Given the description of an element on the screen output the (x, y) to click on. 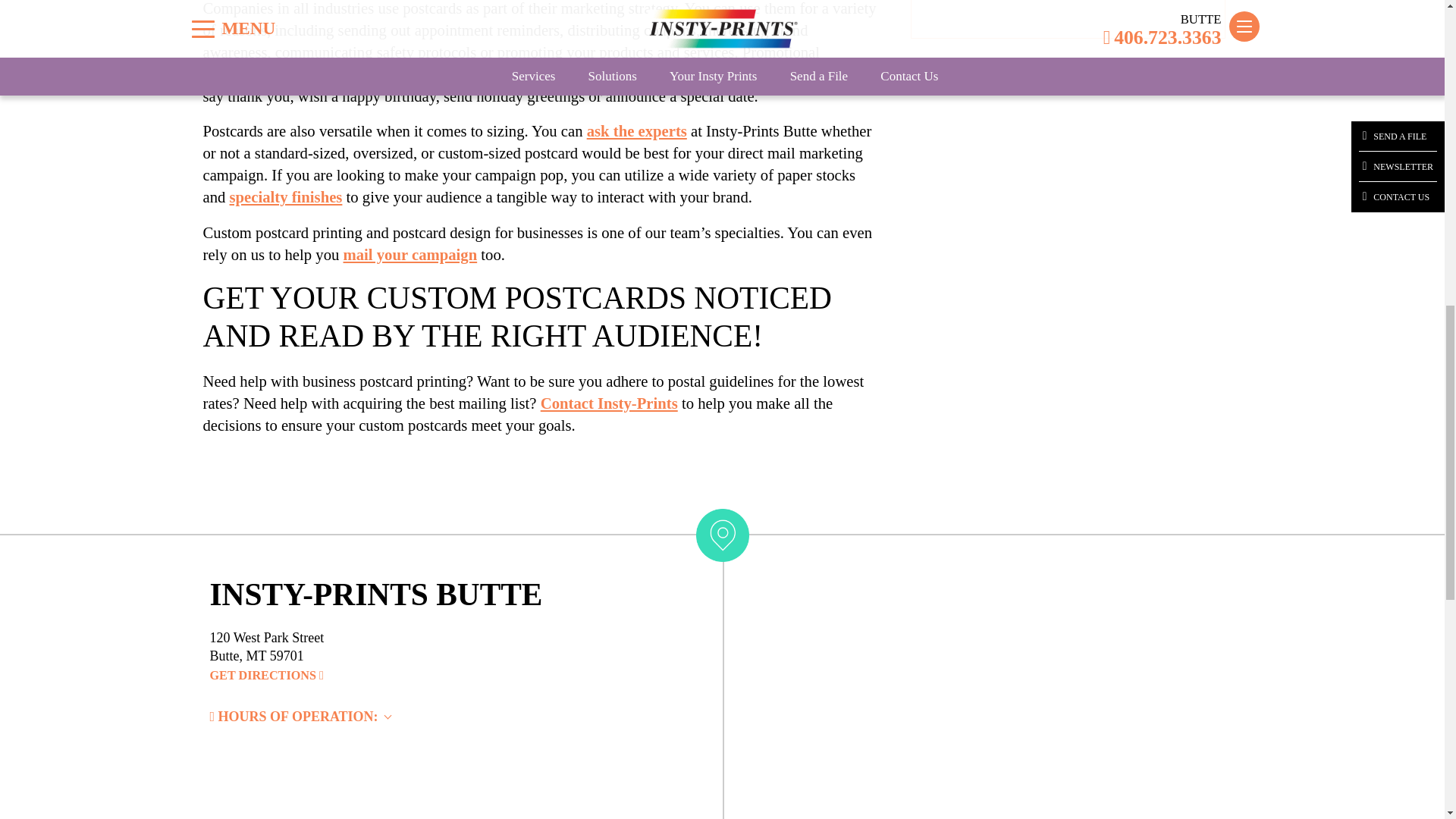
Visit Google Map (266, 676)
ask the experts (636, 108)
